Given the description of an element on the screen output the (x, y) to click on. 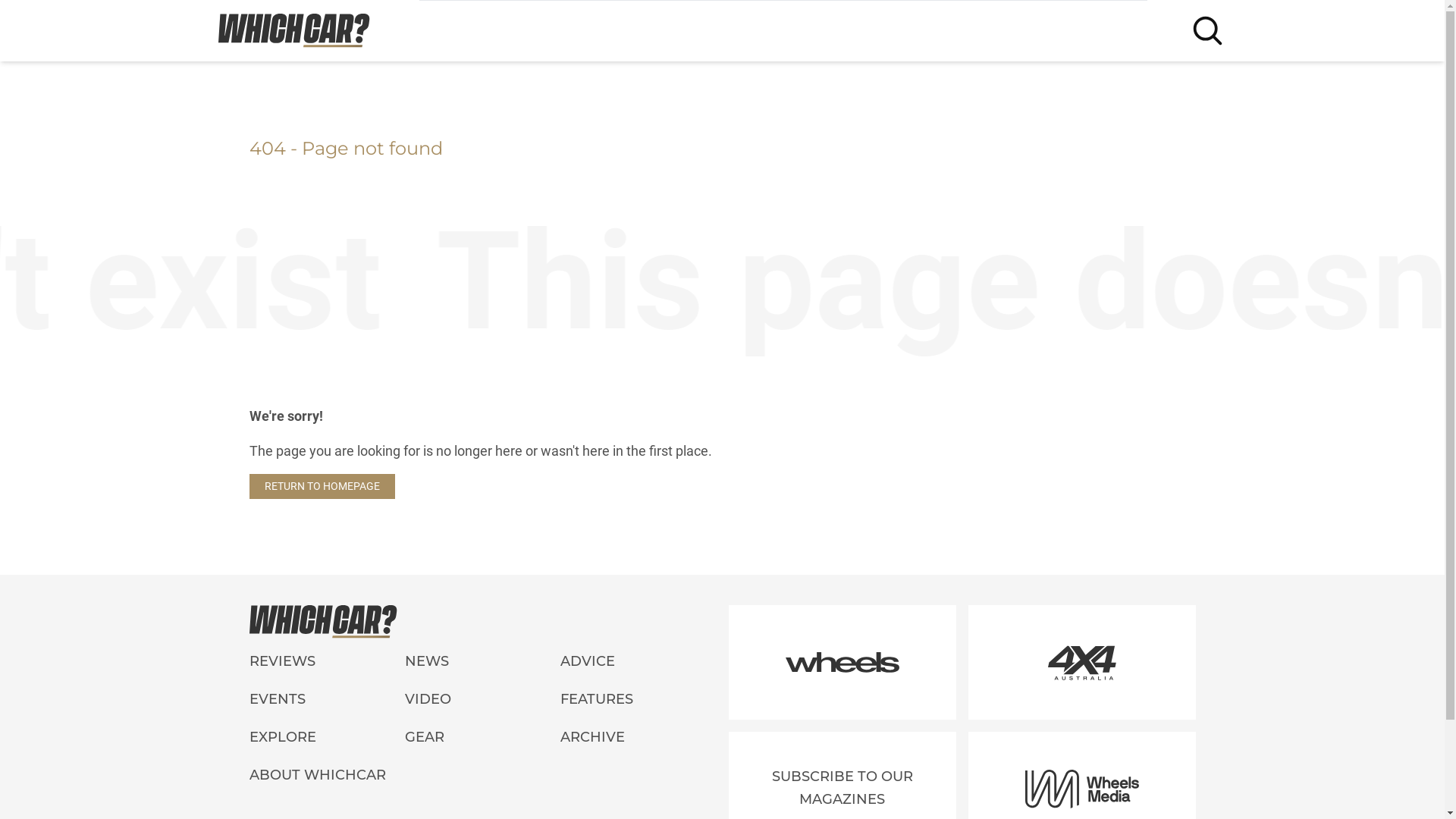
VIDEO Element type: text (482, 699)
NEWS Element type: text (482, 661)
EVENTS Element type: text (326, 699)
GEAR Element type: text (482, 737)
REVIEWS Element type: text (326, 661)
ADVICE Element type: text (637, 661)
ARCHIVE Element type: text (637, 737)
EXPLORE Element type: text (326, 737)
RETURN TO HOMEPAGE Element type: text (321, 485)
ABOUT WHICHCAR Element type: text (481, 775)
FEATURES Element type: text (637, 699)
